Given the description of an element on the screen output the (x, y) to click on. 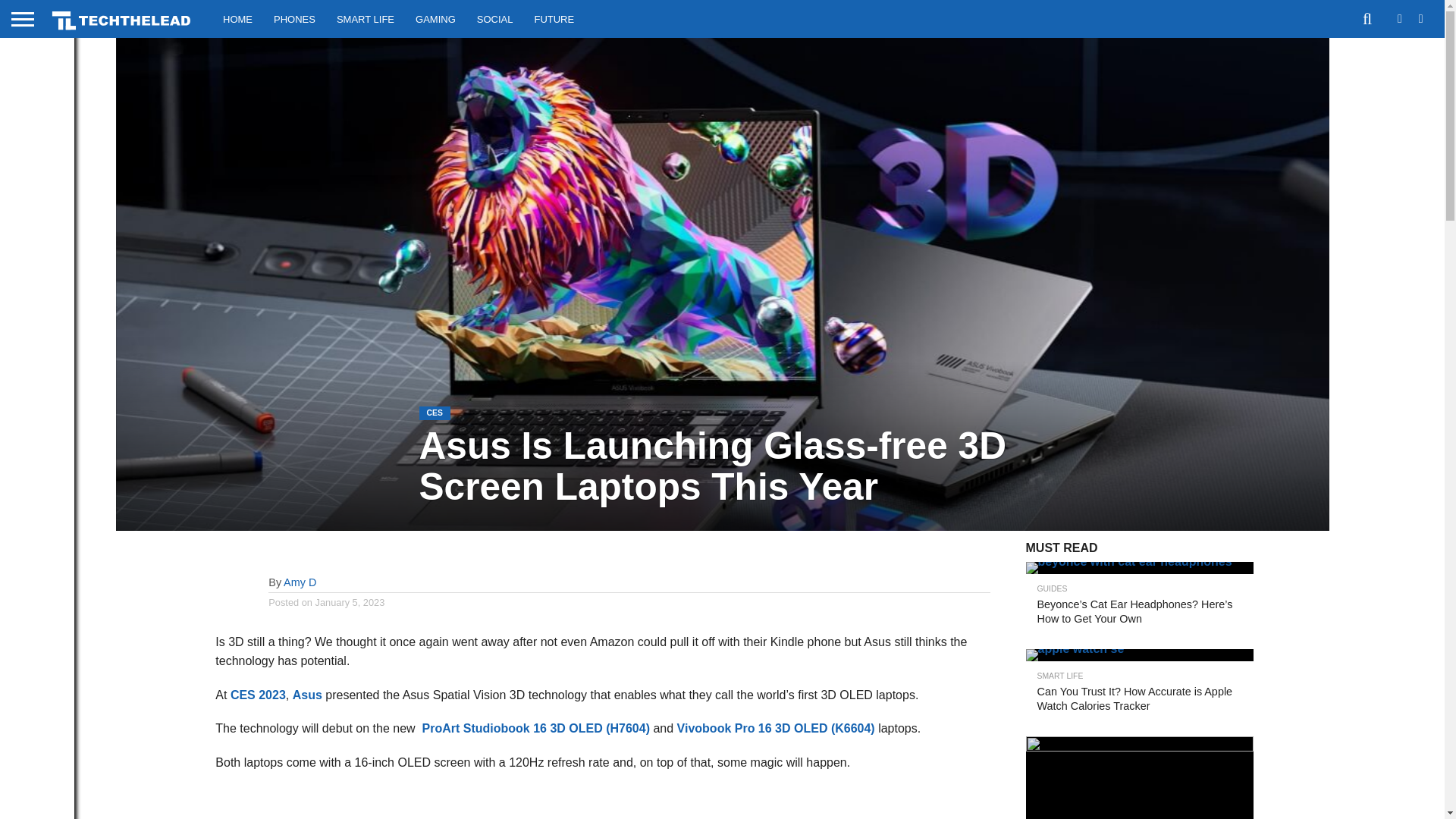
Posts by Amy D (299, 582)
FUTURE (553, 18)
HOME (237, 18)
PHONES (294, 18)
SMART LIFE (365, 18)
SOCIAL (494, 18)
GAMING (434, 18)
